Given the description of an element on the screen output the (x, y) to click on. 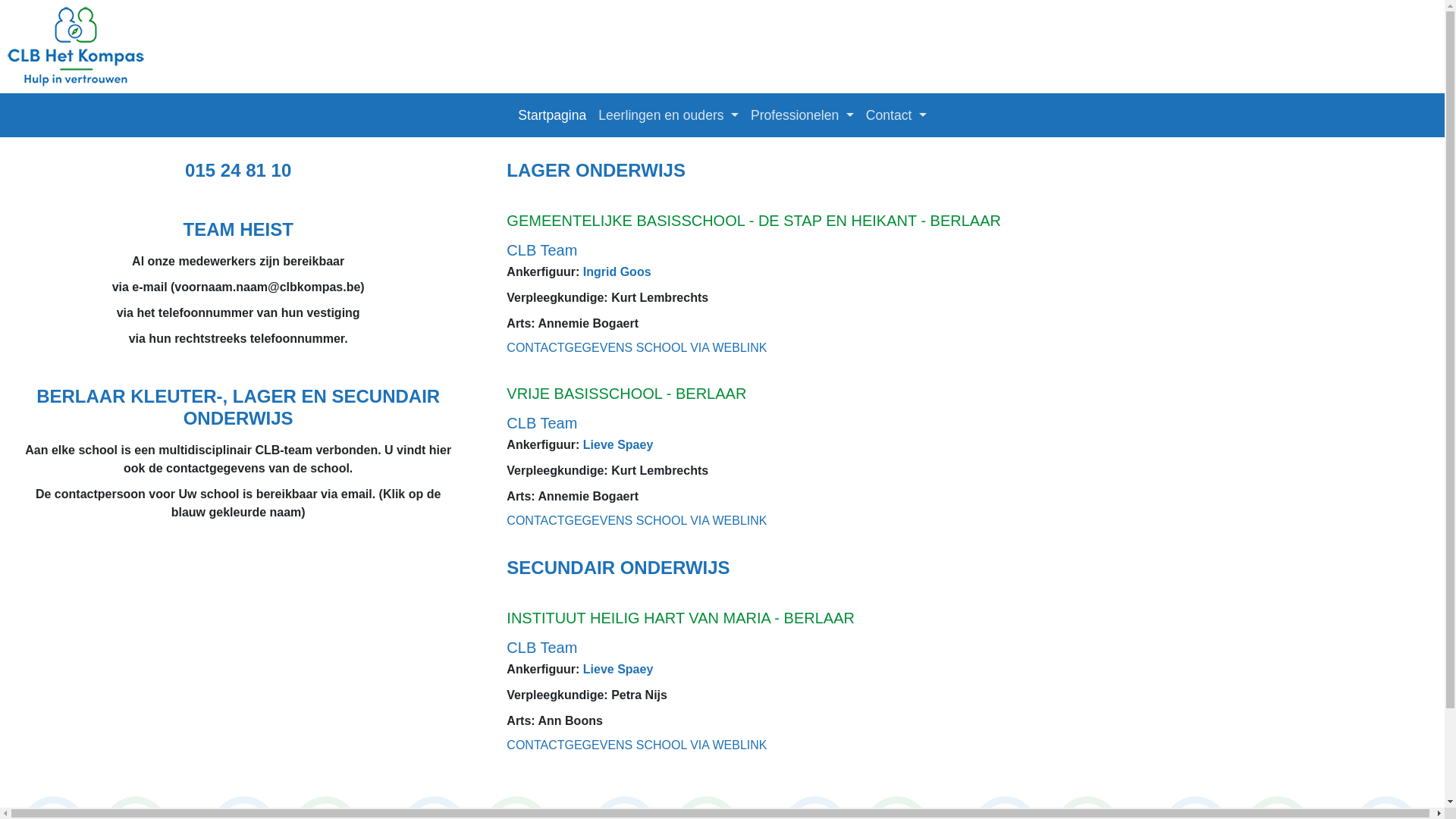
Ingrid Goos Element type: text (617, 271)
CONTACTGEGEVENS SCHOOL VIA WEBLINK Element type: text (636, 744)
CONTACTGEGEVENS SCHOOL VIA WEBLINK Element type: text (636, 520)
Leerlingen en ouders Element type: text (668, 115)
015 24 81 10 Element type: text (238, 170)
Startpagina
(current) Element type: text (551, 115)
Professionelen Element type: text (801, 115)
CONTACTGEGEVENS SCHOOL VIA WEBLINK Element type: text (636, 347)
Contact Element type: text (895, 115)
Lieve Spaey Element type: text (618, 668)
Lieve Spaey Element type: text (618, 444)
TEAM HEIST Element type: text (237, 229)
